Given the description of an element on the screen output the (x, y) to click on. 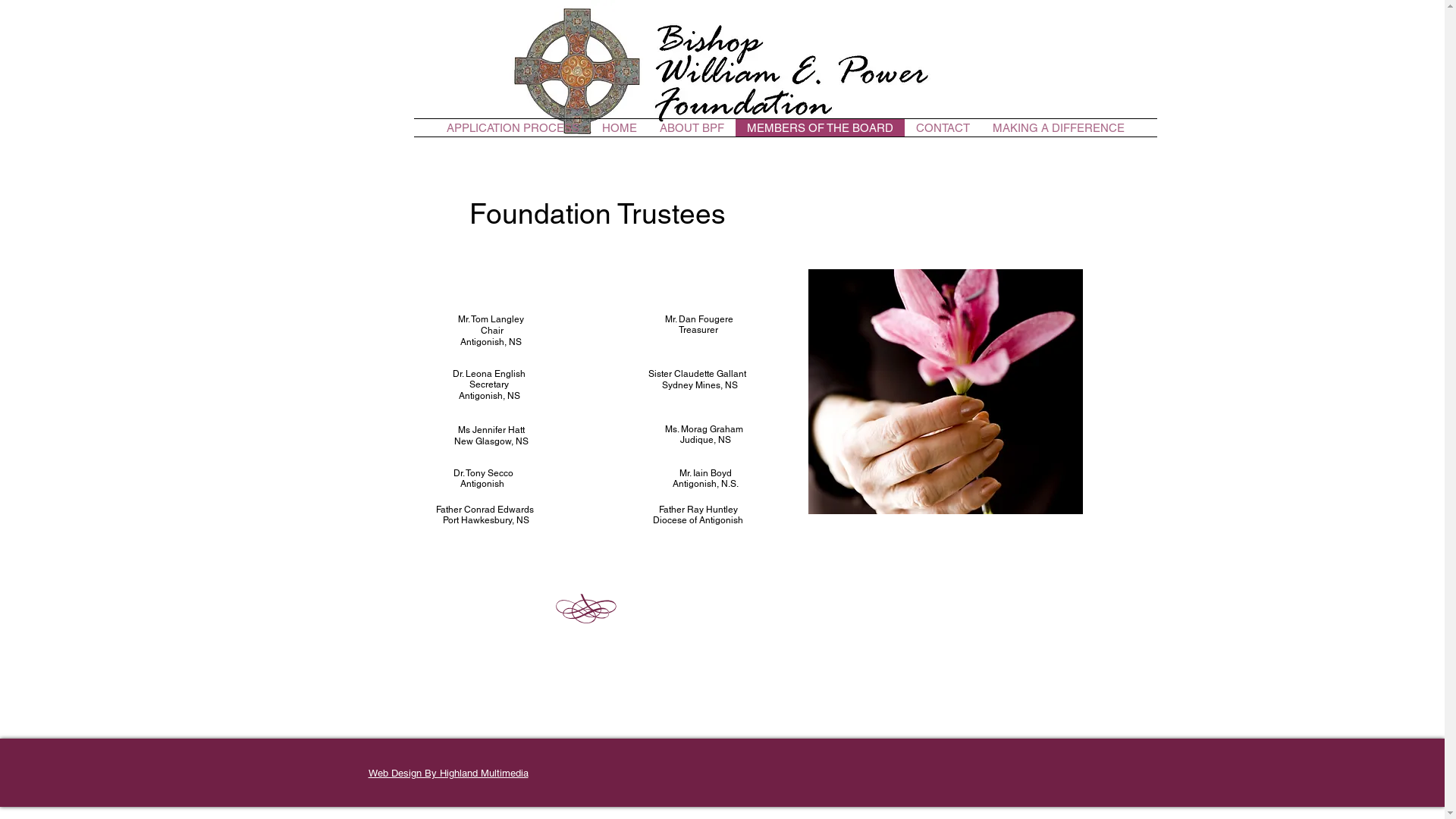
APPLICATION PROCESS Element type: text (512, 127)
ABOUT BPF Element type: text (690, 127)
MEMBERS OF THE BOARD Element type: text (819, 127)
MAKING A DIFFERENCE Element type: text (1058, 127)
HOME Element type: text (618, 127)
Web Design By Highland Multimedia Element type: text (448, 772)
CONTACT Element type: text (941, 127)
